Given the description of an element on the screen output the (x, y) to click on. 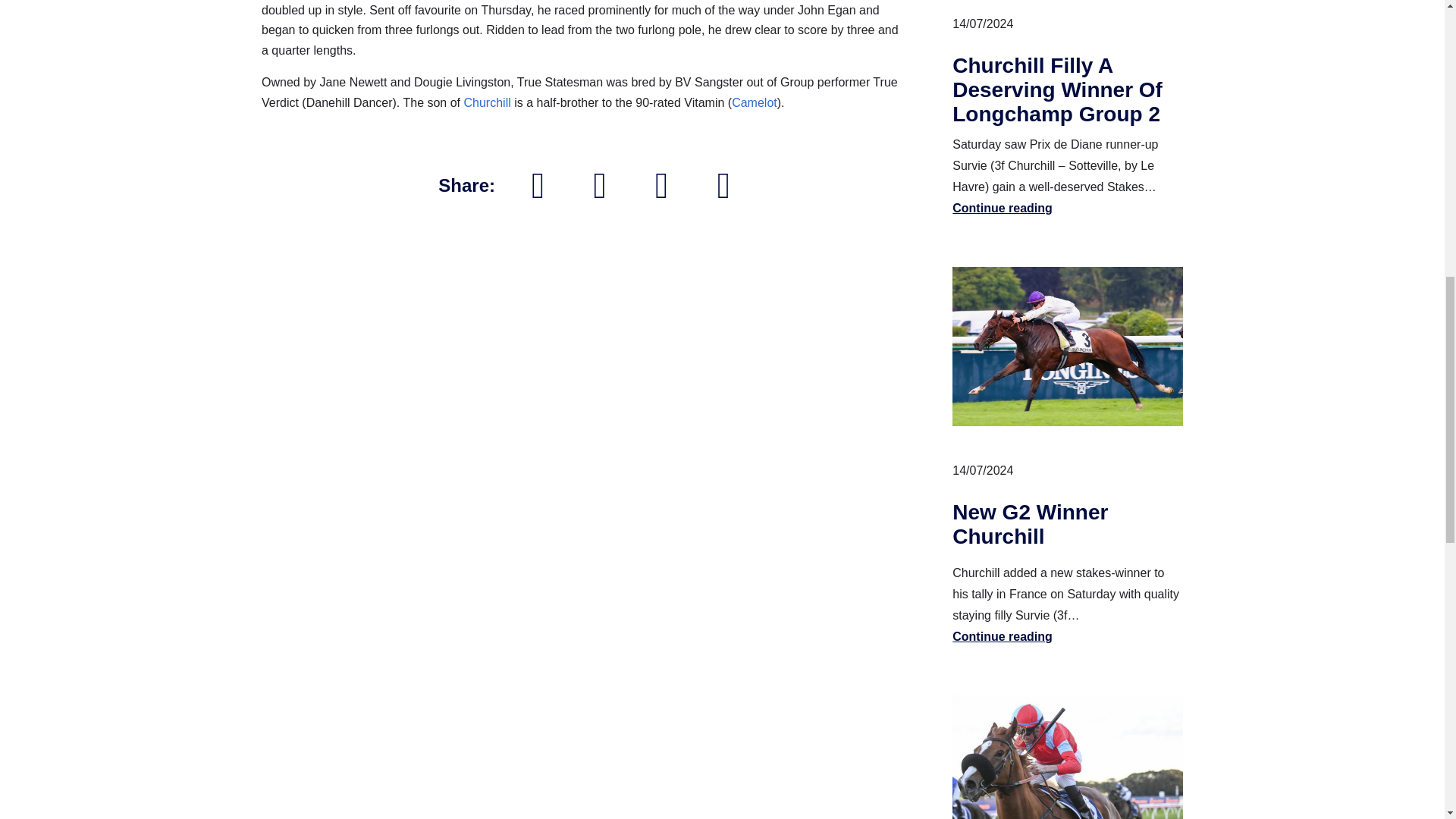
Camelot (754, 102)
Churchill (487, 102)
